Given the description of an element on the screen output the (x, y) to click on. 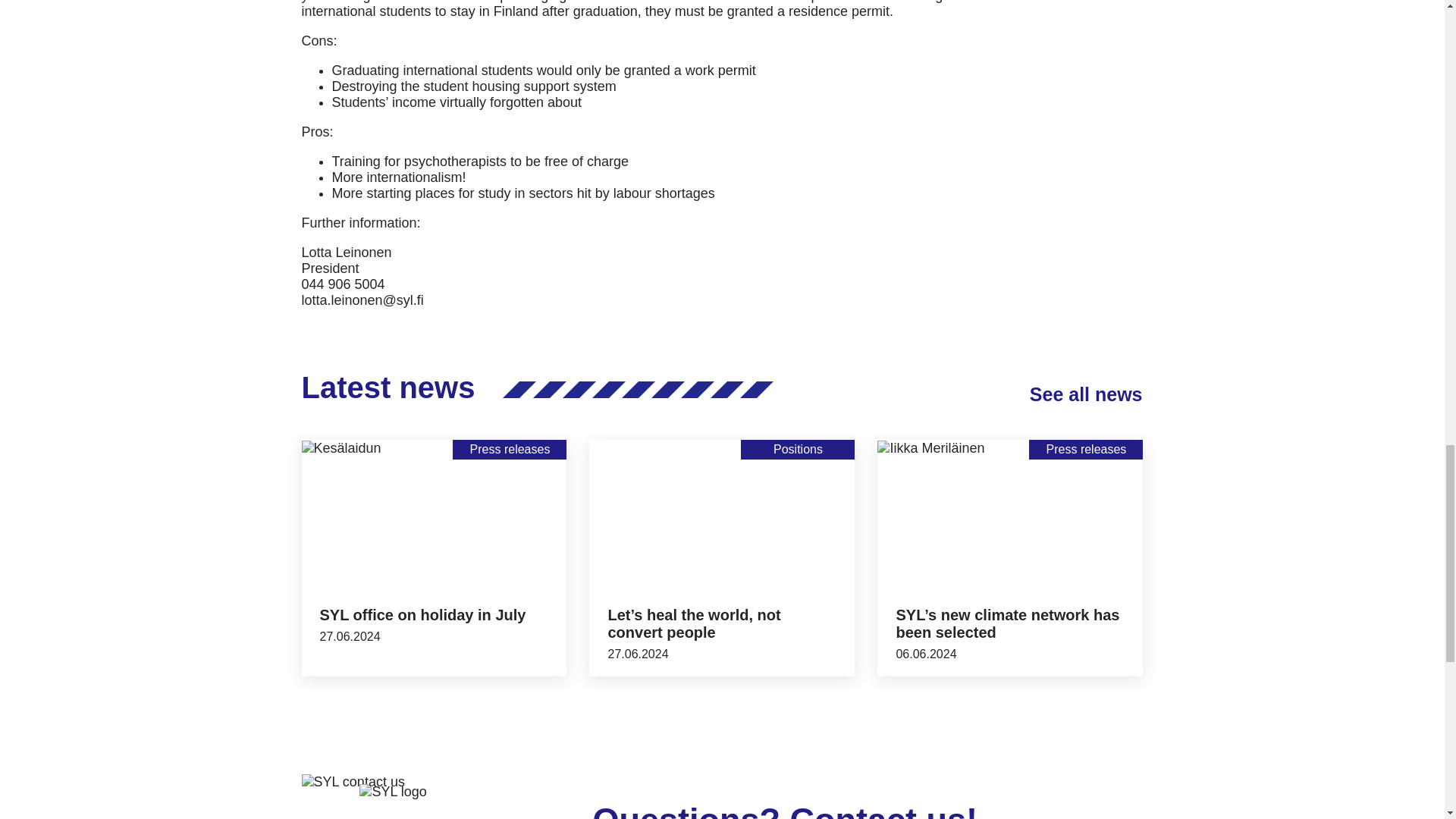
See all news (1085, 394)
SYL office on holiday in July (422, 614)
